Given the description of an element on the screen output the (x, y) to click on. 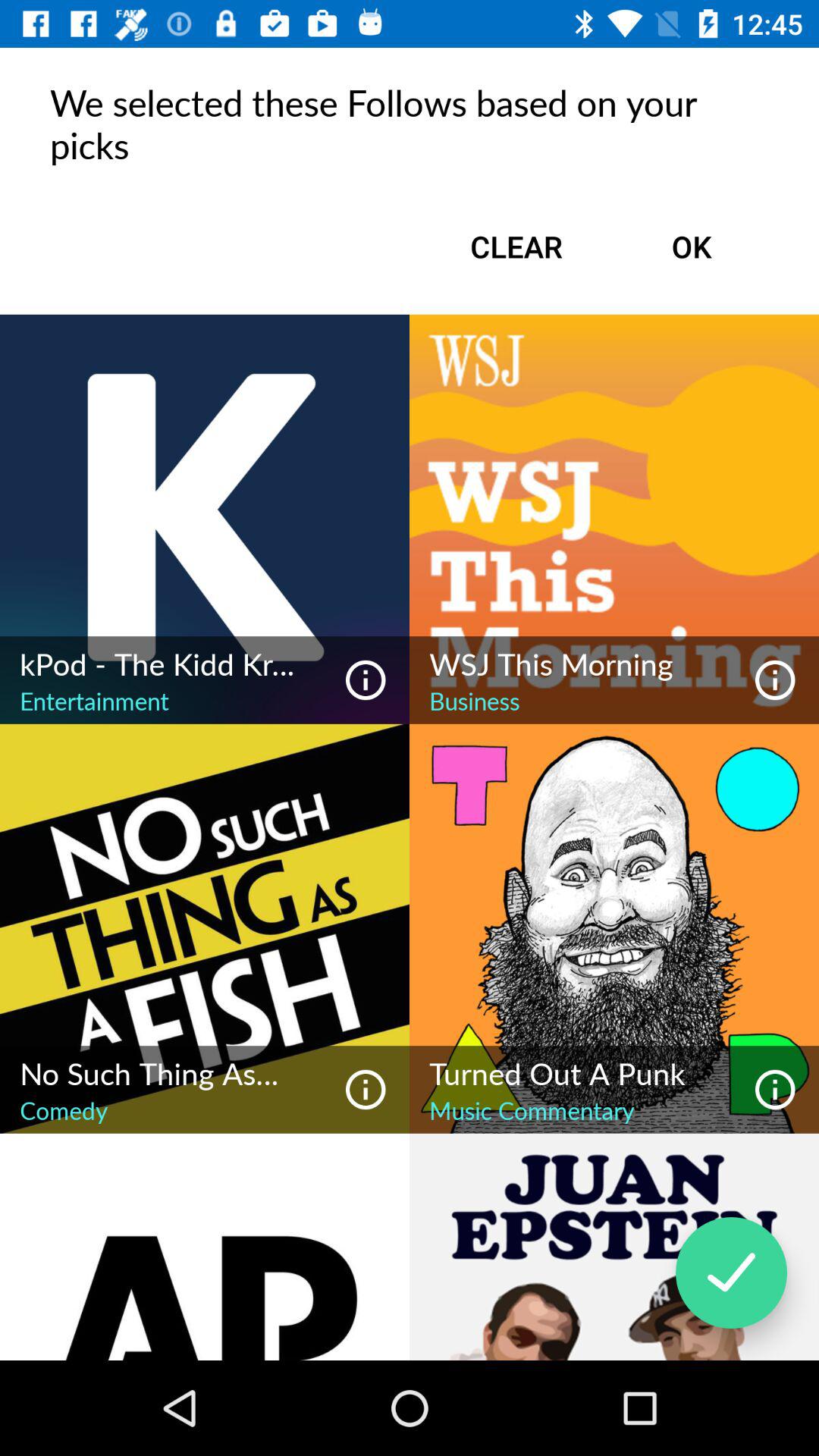
turn on item next to the ok (516, 246)
